Given the description of an element on the screen output the (x, y) to click on. 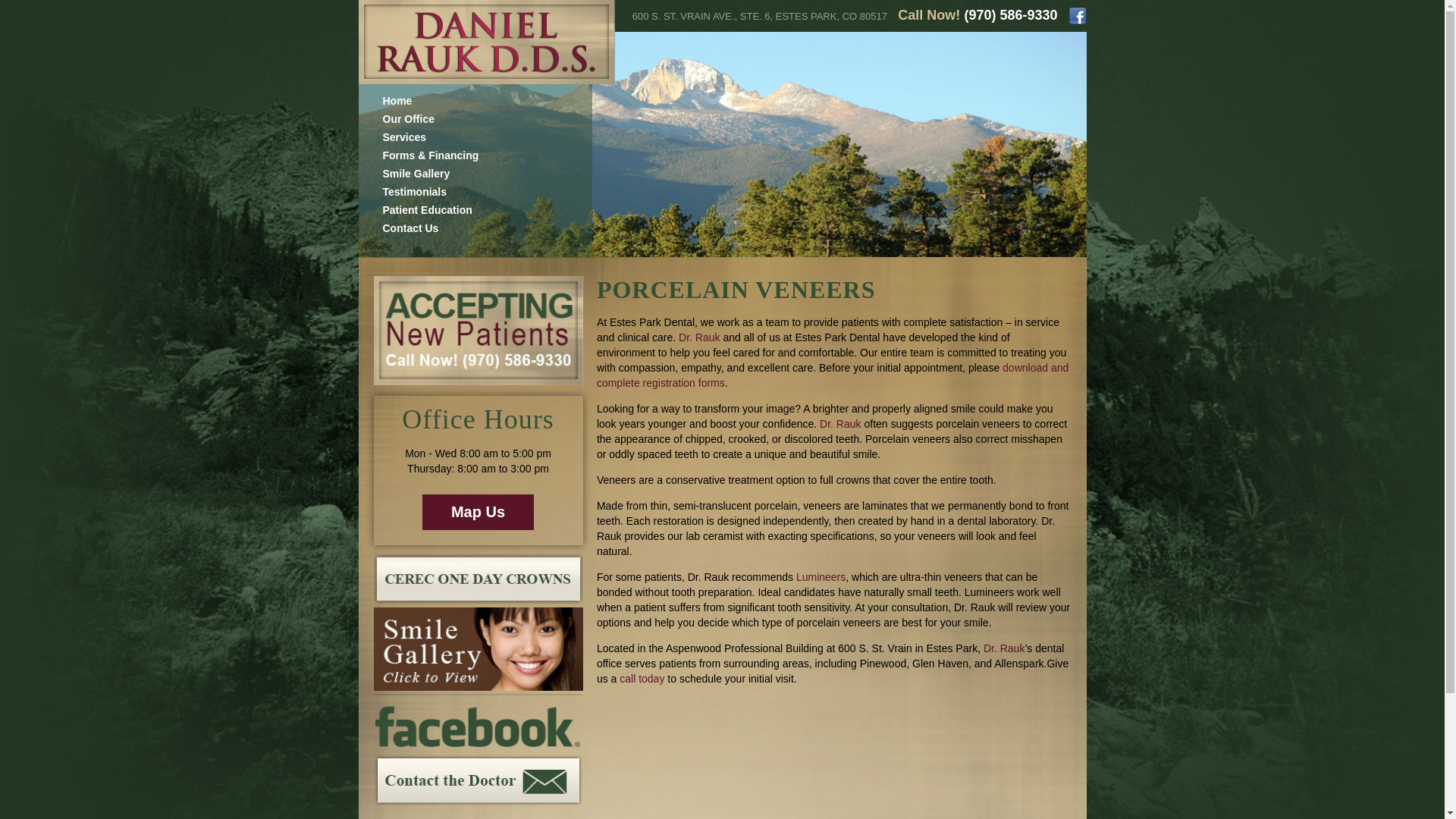
Testimonials (413, 191)
Our Office (407, 119)
Smile Gallery (415, 173)
Services (403, 137)
Contact Us (409, 227)
Patient Education (426, 209)
Home (396, 101)
